Given the description of an element on the screen output the (x, y) to click on. 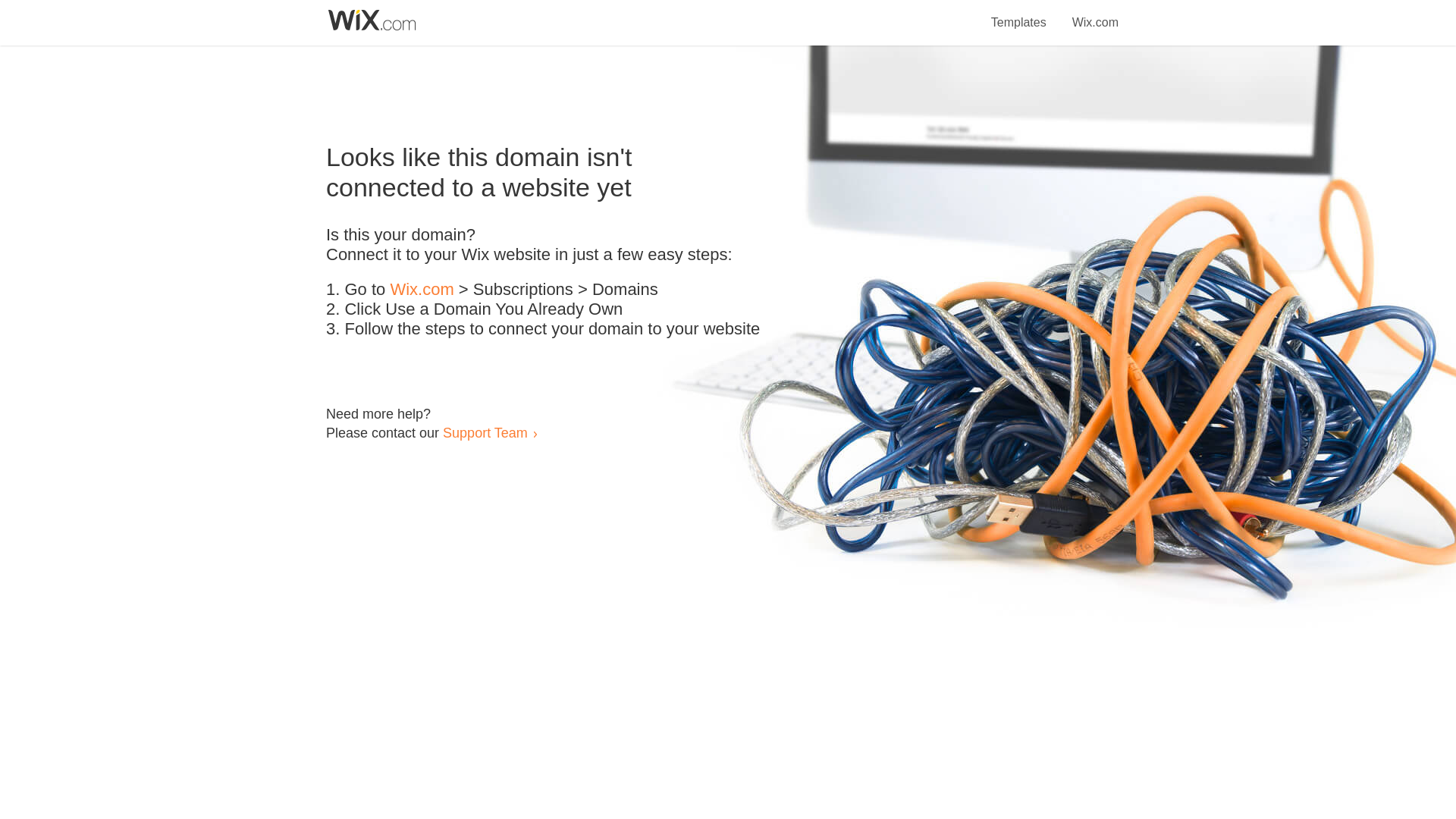
Templates (1018, 14)
Support Team (484, 432)
Wix.com (1095, 14)
Wix.com (421, 289)
